Given the description of an element on the screen output the (x, y) to click on. 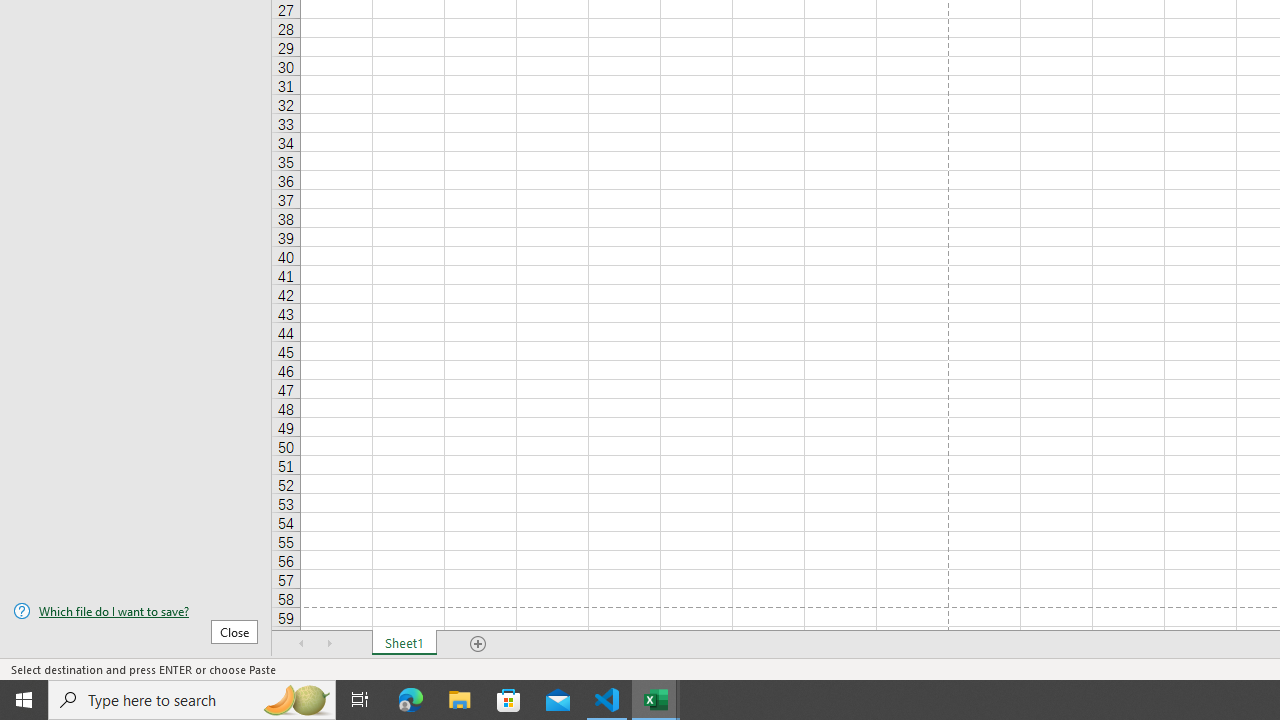
Which file do I want to save? (136, 611)
